Given the description of an element on the screen output the (x, y) to click on. 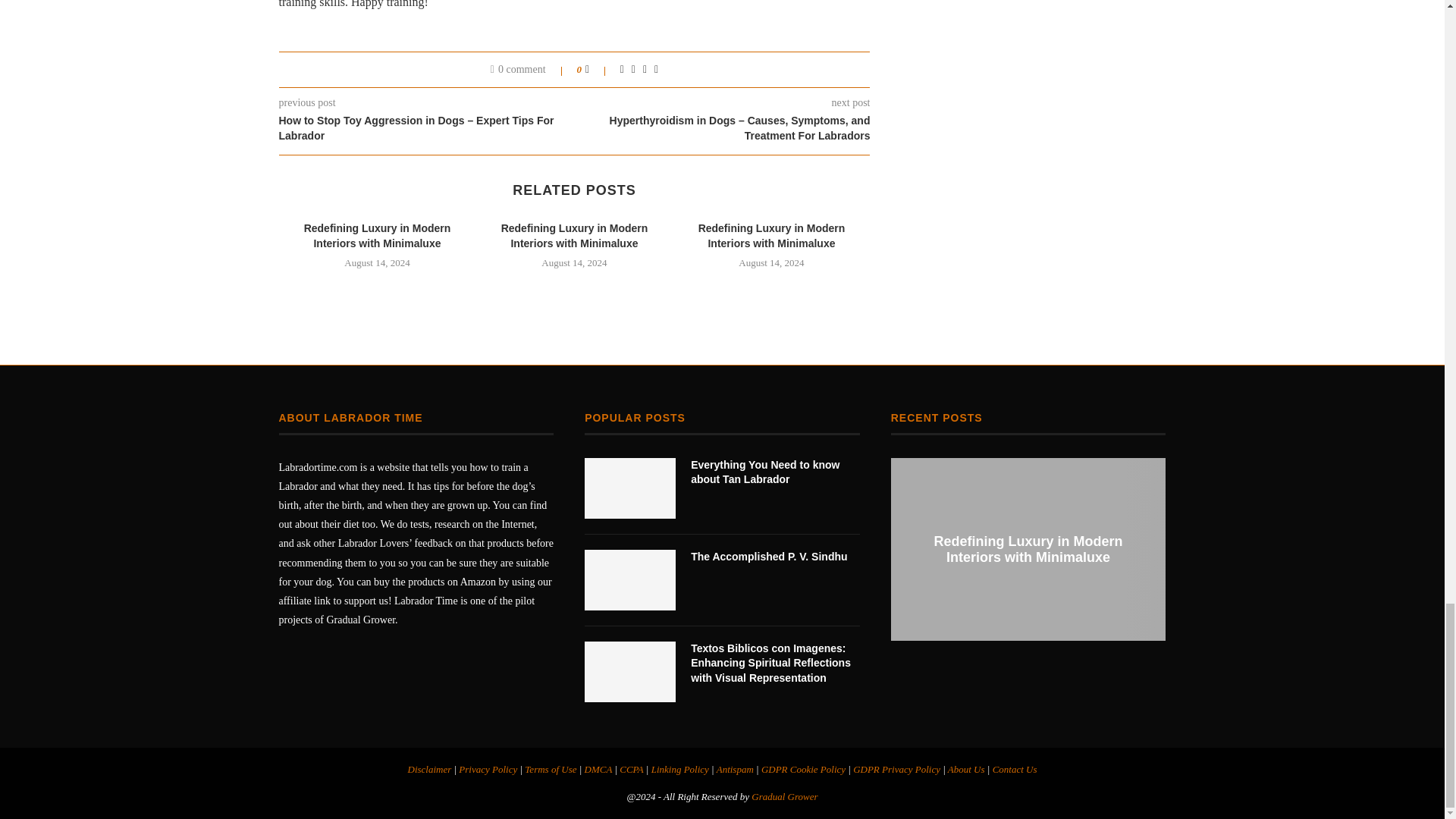
The Accomplished P. V. Sindhu (775, 557)
Everything You Need to know about Tan Labrador (775, 472)
The Accomplished P. V. Sindhu (630, 579)
Redefining Luxury in Modern Interiors with Minimaluxe (573, 235)
Redefining Luxury in Modern Interiors with Minimaluxe (1028, 549)
Like (597, 69)
Everything You Need to know about Tan Labrador (630, 487)
Redefining Luxury in Modern Interiors with Minimaluxe (377, 235)
